Given the description of an element on the screen output the (x, y) to click on. 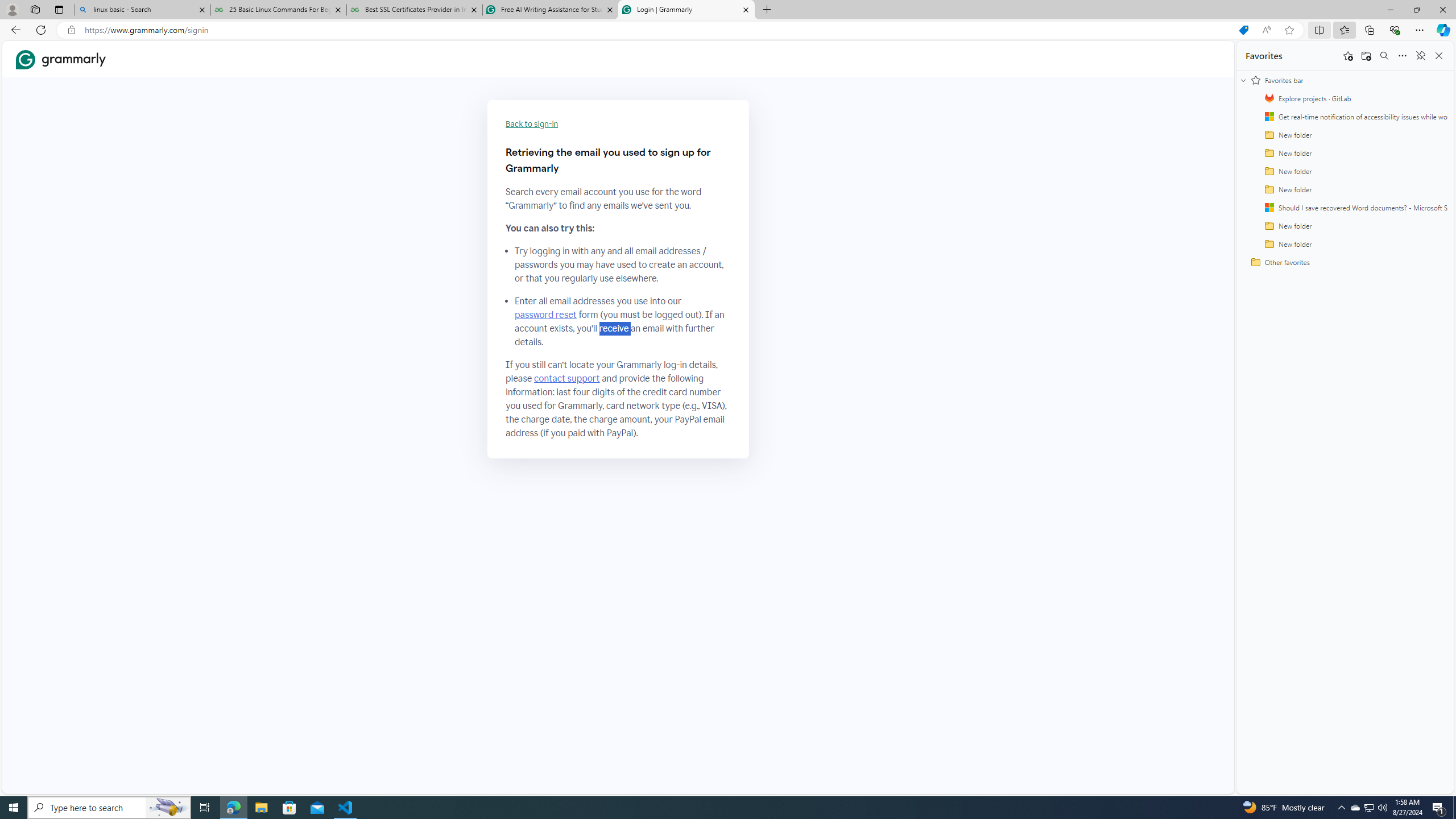
Add this page to favorites (1347, 55)
Best SSL Certificates Provider in India - GeeksforGeeks (414, 9)
Close favorites (1439, 55)
Grammarly Home (61, 59)
25 Basic Linux Commands For Beginners - GeeksforGeeks (277, 9)
Grammarly Home (61, 58)
